Given the description of an element on the screen output the (x, y) to click on. 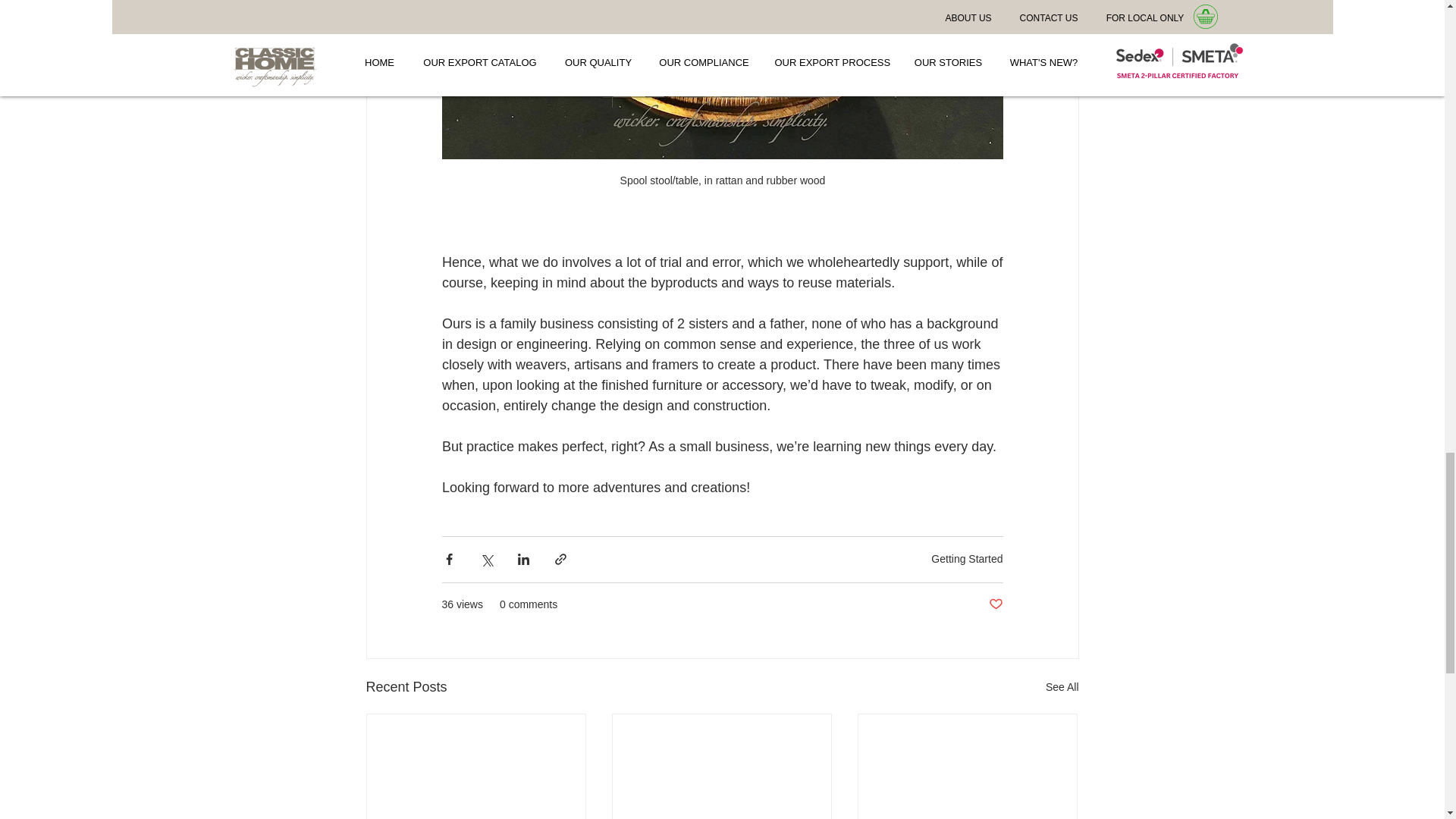
See All (1061, 687)
Getting Started (967, 558)
Post not marked as liked (995, 604)
